Given the description of an element on the screen output the (x, y) to click on. 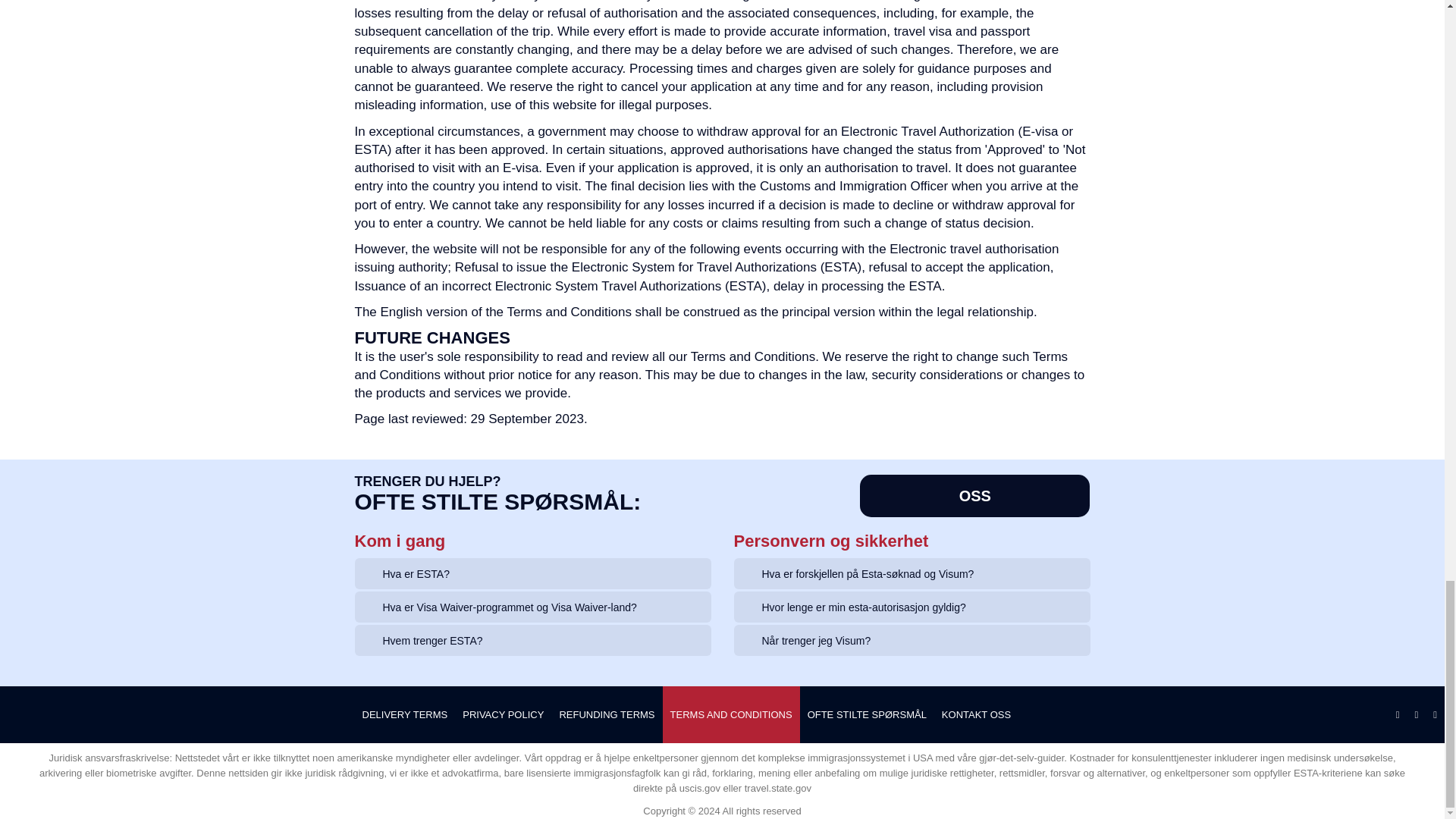
DELIVERY TERMS (405, 714)
Hvor lenge er min esta-autorisasjon gyldig? (911, 606)
KONTAKT OSS (975, 714)
PRIVACY POLICY (502, 714)
Hva er Visa Waiver-programmet og Visa Waiver-land? (532, 606)
OSS (974, 496)
Hvem trenger ESTA? (532, 640)
Hva er ESTA? (532, 572)
REFUNDING TERMS (606, 714)
